Given the description of an element on the screen output the (x, y) to click on. 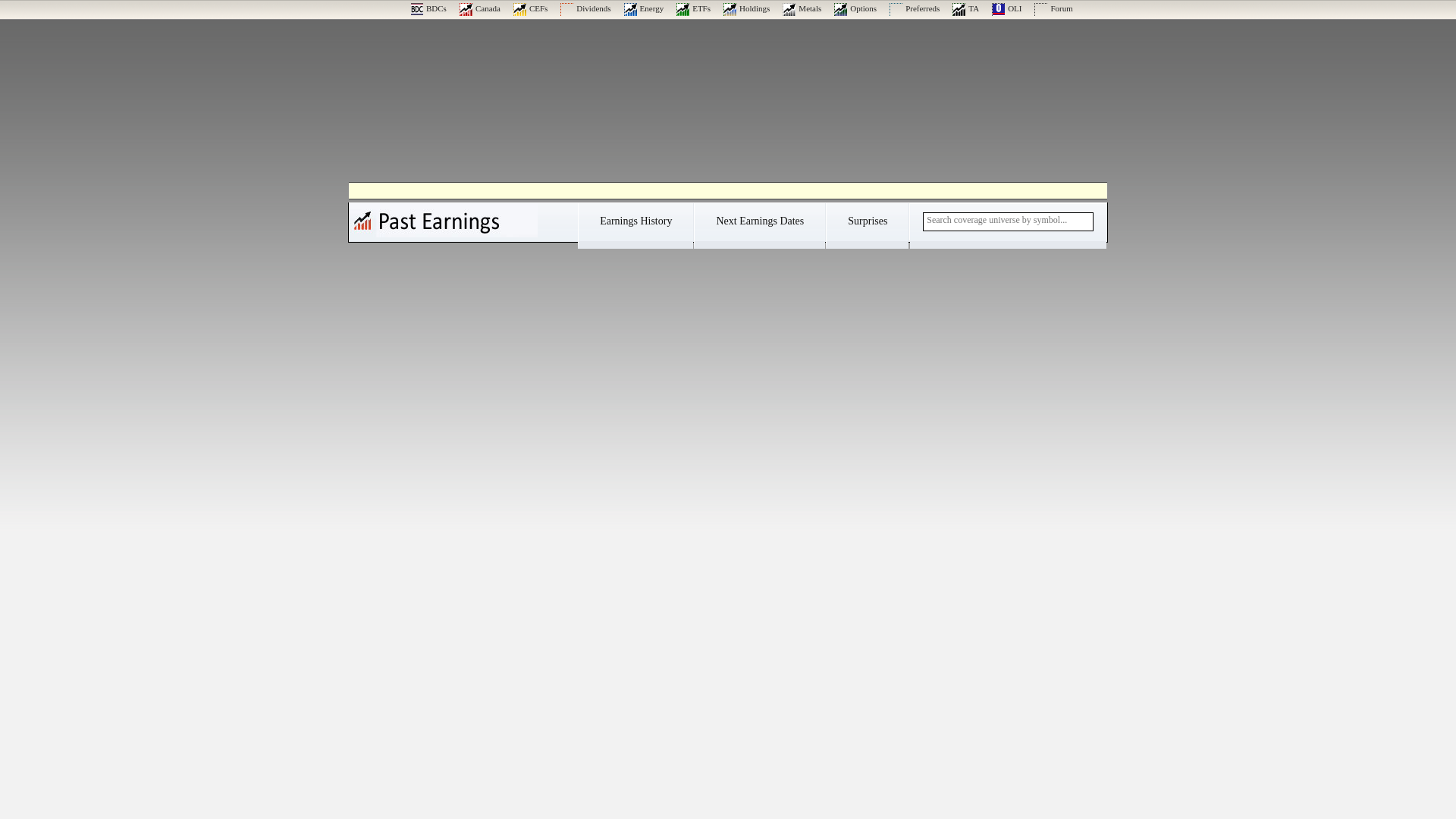
Canada (480, 8)
Stock Options Channel (855, 8)
Metals Channel (802, 8)
Holdings (746, 8)
CEFs (530, 8)
ETFs (693, 8)
Dividends (585, 8)
Holdings Channel (746, 8)
Dividend Channel (585, 8)
OLI (1006, 8)
